Given the description of an element on the screen output the (x, y) to click on. 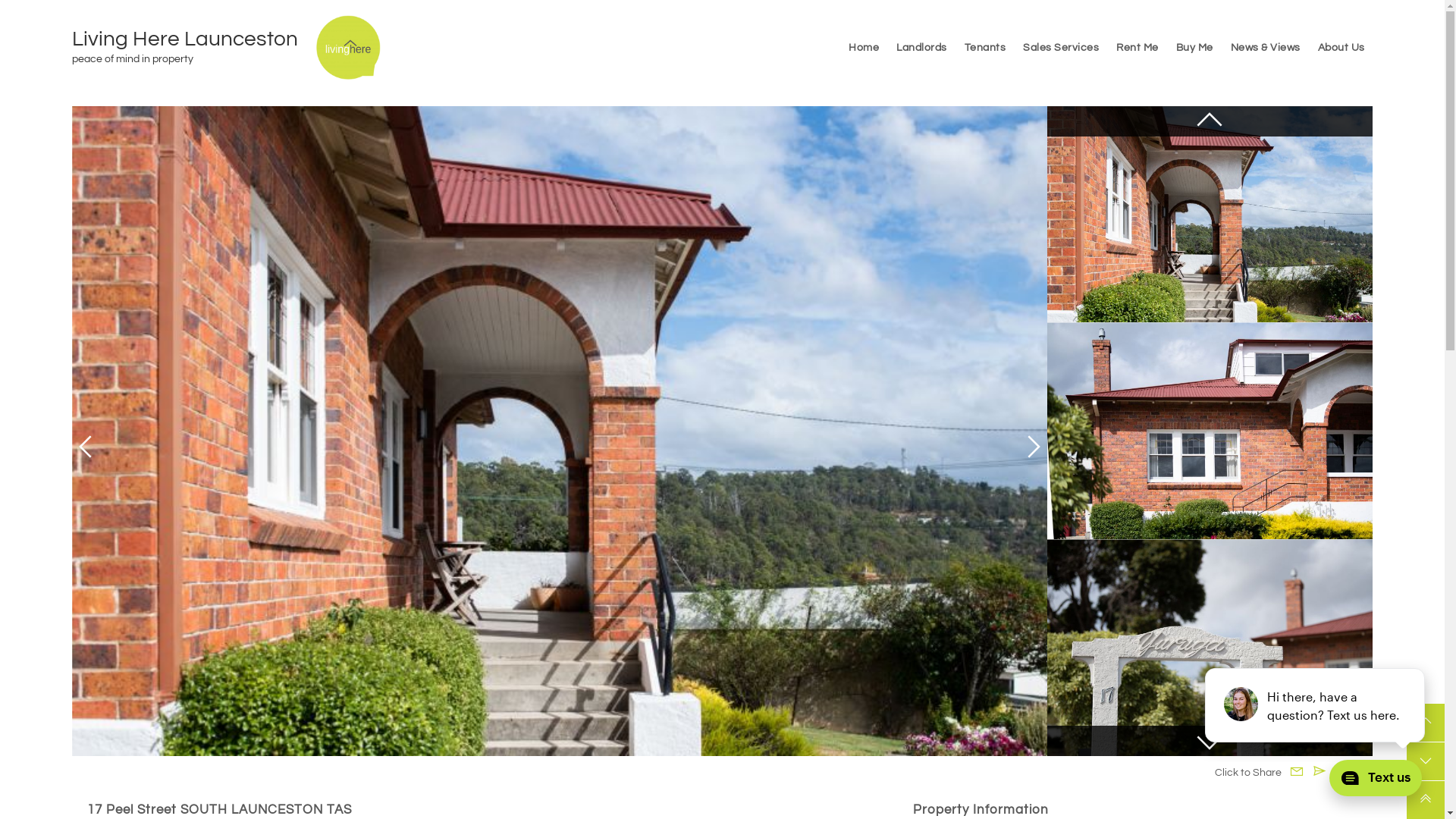
Living Here Launceston
peace of mind in property Element type: text (194, 47)
Sales Services Element type: text (1060, 46)
Tenants Element type: text (985, 46)
podium webchat widget prompt Element type: hover (1315, 705)
Email to Agent Element type: hover (1296, 770)
Buy Me Element type: text (1194, 46)
News & Views Element type: text (1265, 46)
Email to Friend Element type: hover (1319, 770)
Landlords Element type: text (921, 46)
About Us Element type: text (1341, 46)
Home Element type: text (863, 46)
Rent Me Element type: text (1137, 46)
